Given the description of an element on the screen output the (x, y) to click on. 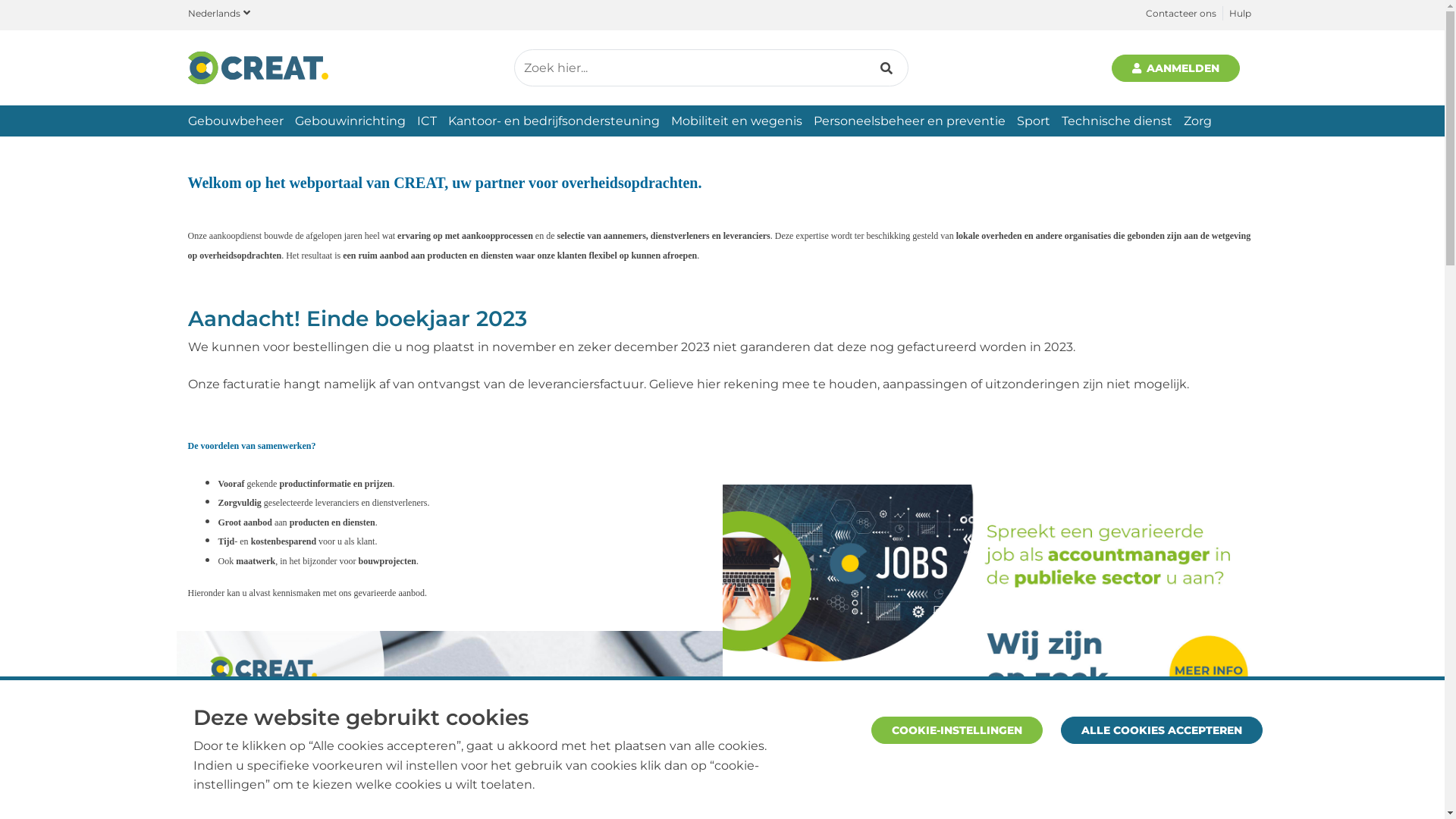
AANMELDEN Element type: text (1175, 67)
Mobiliteit en wegenis Element type: text (735, 120)
ICT Element type: text (426, 120)
Technische dienst Element type: text (1116, 120)
Zorg Element type: text (1197, 120)
Sport Element type: text (1032, 120)
Contacteer ons Element type: text (1180, 12)
ALLE COOKIES ACCEPTEREN Element type: text (1161, 729)
Hulp Element type: text (1239, 12)
Gebouwbeheer Element type: text (235, 120)
COOKIE-INSTELLINGEN Element type: text (956, 729)
Gebouwinrichting Element type: text (349, 120)
Personeelsbeheer en preventie Element type: text (908, 120)
Kantoor- en bedrijfsondersteuning Element type: text (552, 120)
